Given the description of an element on the screen output the (x, y) to click on. 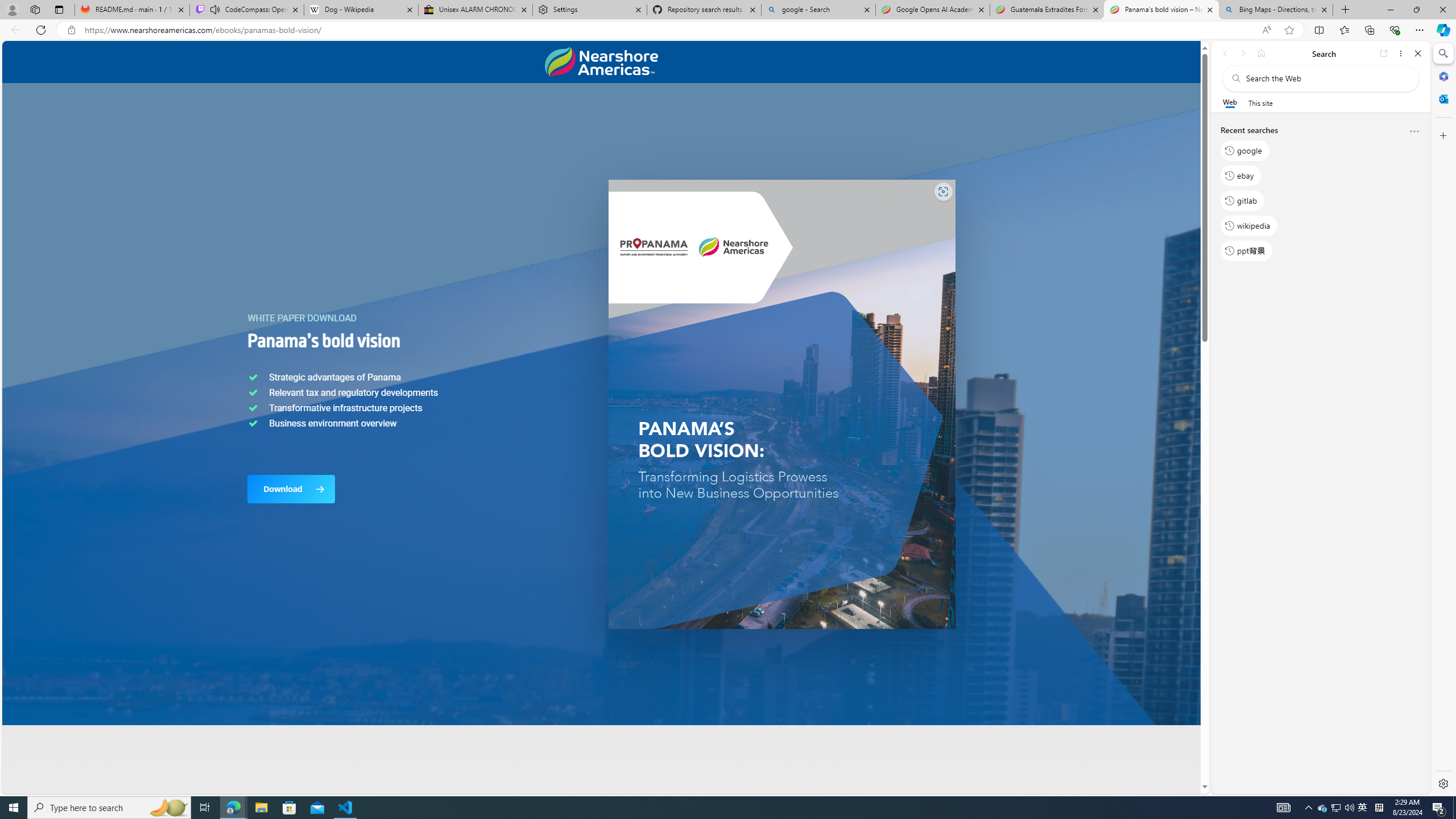
Class: slide_out_area_close (1257, 417)
Dog - Wikipedia (360, 9)
google (1244, 150)
